Given the description of an element on the screen output the (x, y) to click on. 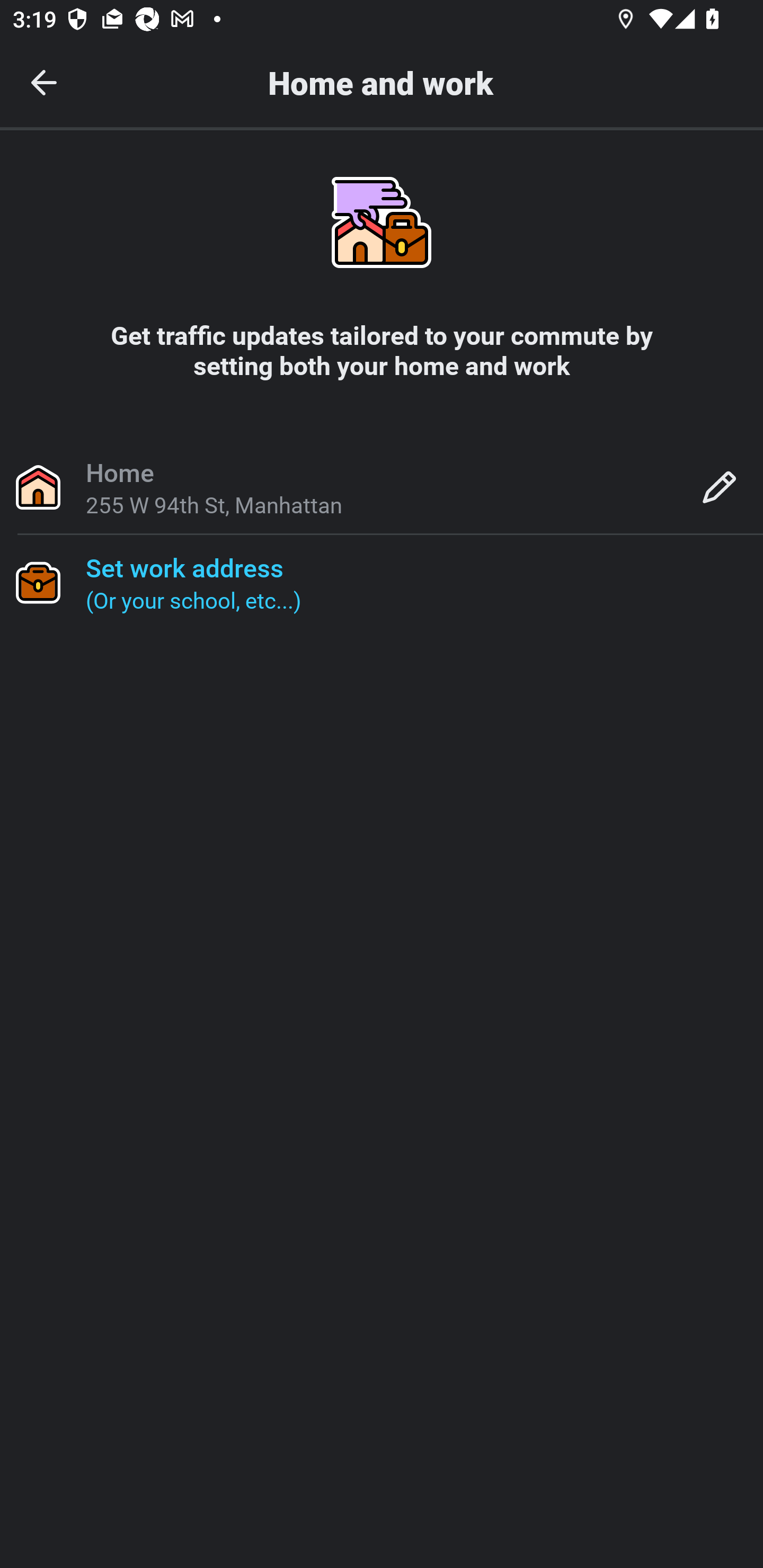
Home 255 W 94th St, Manhattan (381, 486)
Set work address (Or your school, etc...) (381, 582)
